Given the description of an element on the screen output the (x, y) to click on. 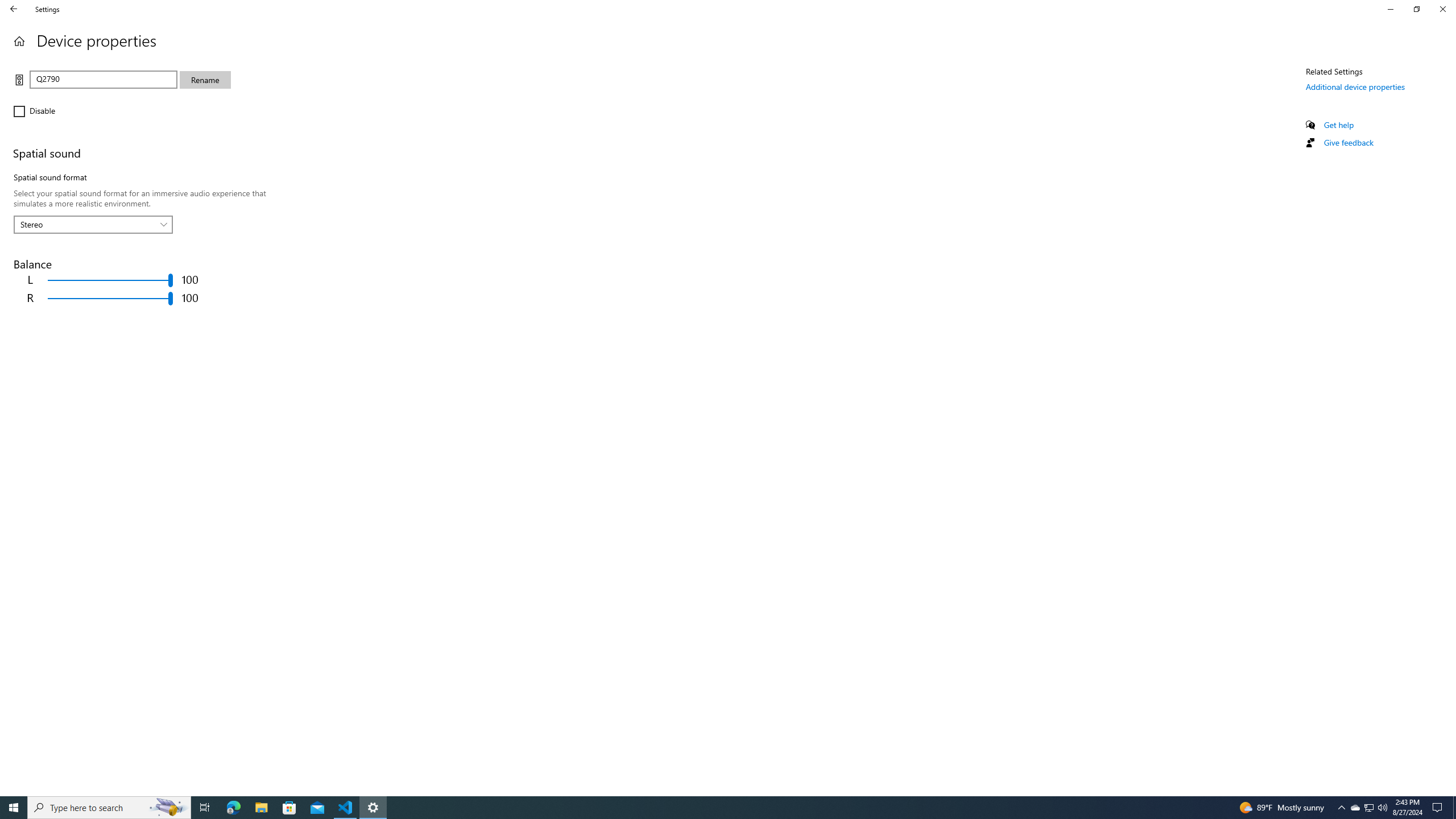
Spatial sound format (93, 224)
Stereo (87, 224)
Text box to change device name (103, 79)
